Given the description of an element on the screen output the (x, y) to click on. 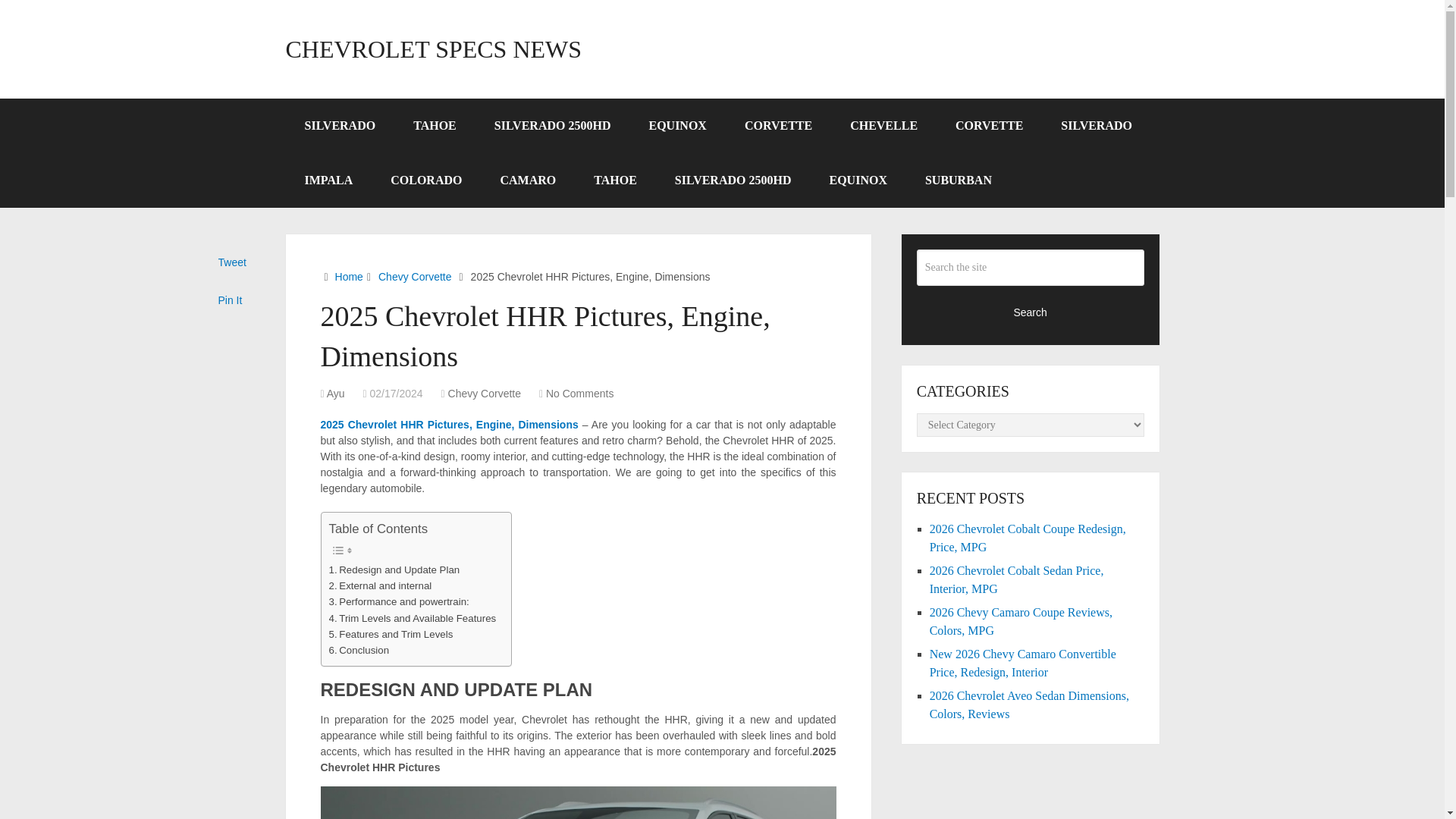
External and internal (380, 585)
Performance and powertrain: (398, 601)
Posts by Ayu (335, 393)
EQUINOX (857, 180)
Conclusion (359, 650)
EQUINOX (676, 125)
2025 Chevrolet HHR Pictures, Engine, Dimensions (449, 424)
SILVERADO 2500HD (553, 125)
Trim Levels and Available Features (412, 618)
SILVERADO (339, 125)
